Given the description of an element on the screen output the (x, y) to click on. 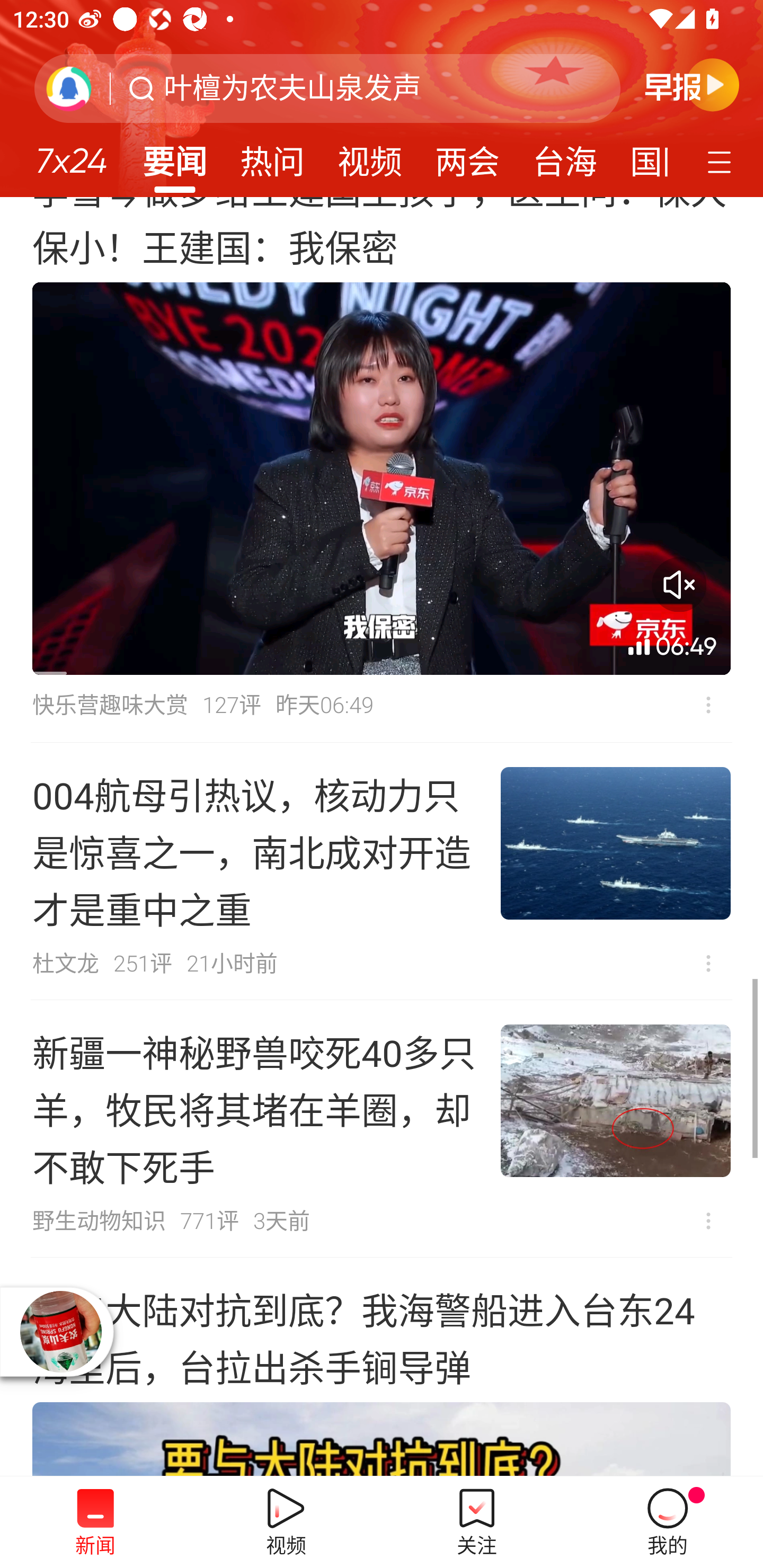
早晚报 (691, 84)
刷新 (68, 88)
叶檀为农夫山泉发声 (292, 88)
7x24 (70, 154)
要闻 (174, 155)
热问 (272, 155)
视频 (369, 155)
两会 (466, 155)
台海 (564, 155)
 定制频道 (721, 160)
音量开关 (678, 583)
 不感兴趣 (707, 704)
 不感兴趣 (707, 963)
 不感兴趣 (707, 1221)
要与大陆对抗到底？我海警船进入台东24海里后，台拉出杀手锏导弹 (381, 1367)
播放器 (60, 1331)
